Given the description of an element on the screen output the (x, y) to click on. 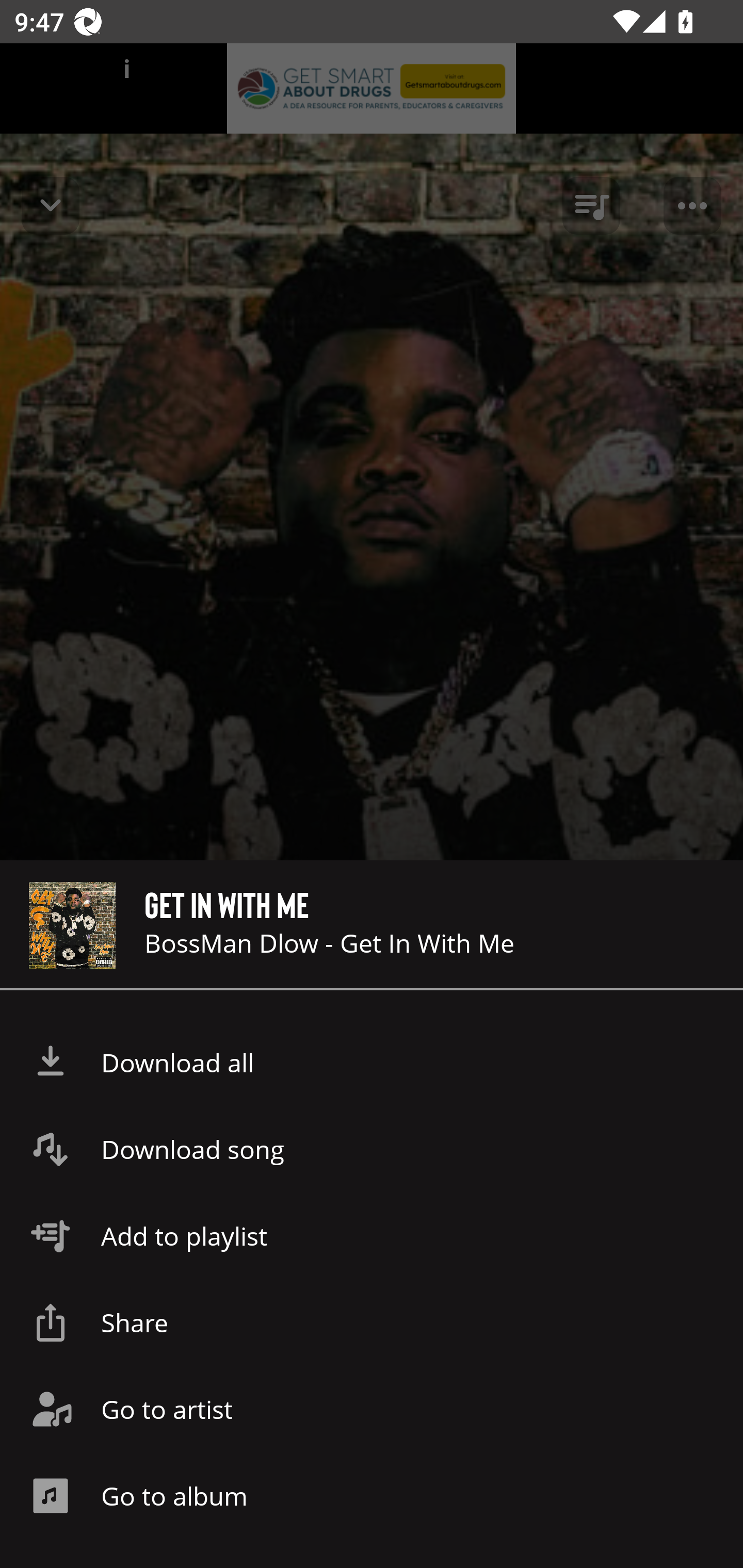
Download all (371, 1062)
Download song (371, 1149)
Add to playlist (371, 1236)
Share (371, 1322)
Go to artist (371, 1408)
Go to album (371, 1495)
